Given the description of an element on the screen output the (x, y) to click on. 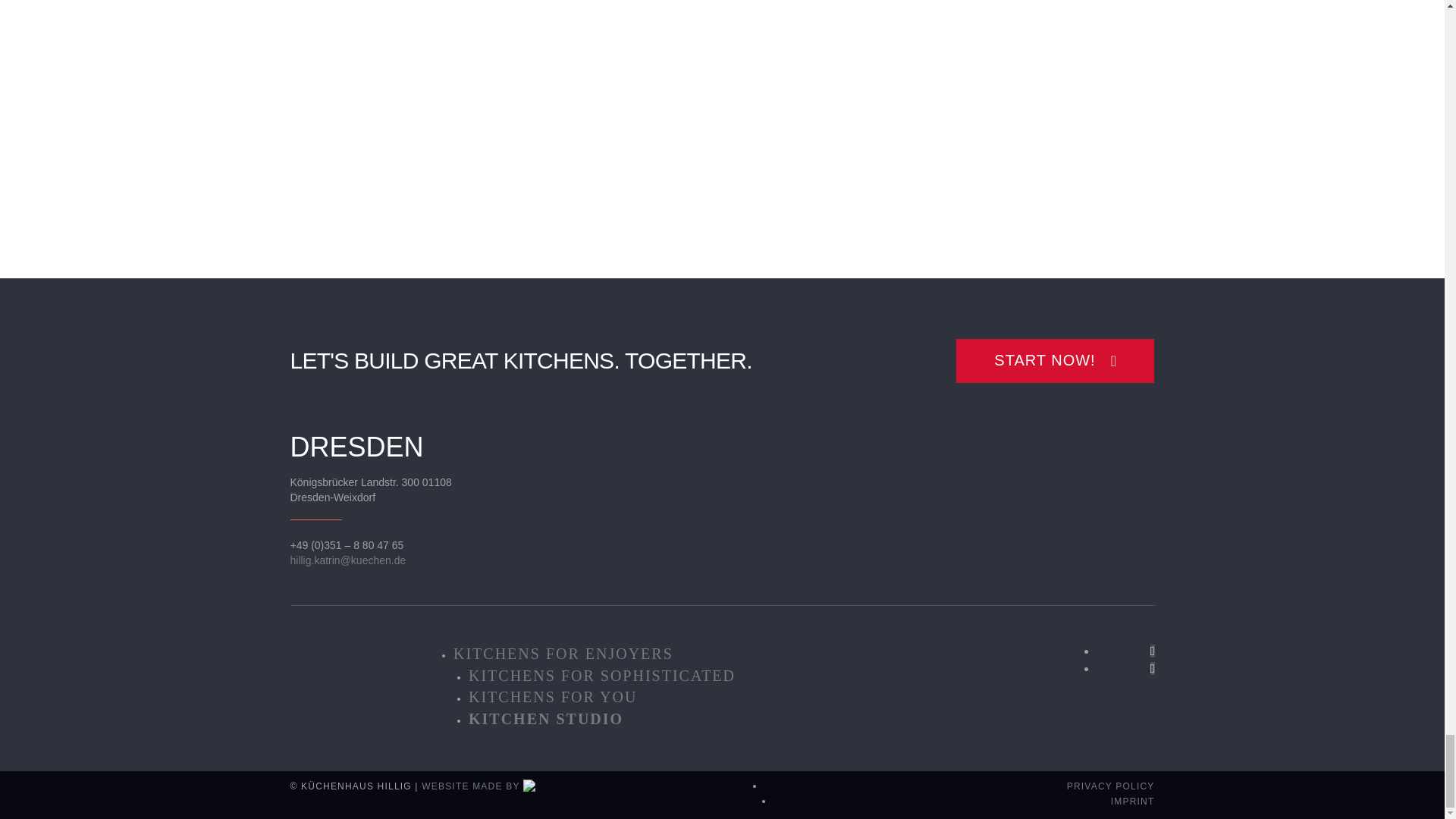
KITCHENS FOR SOPHISTICATED (601, 675)
KITCHEN STUDIO (545, 718)
IMPRINT (1132, 801)
WEBSITE MADE BY (478, 786)
KITCHENS FOR YOU (552, 696)
KITCHENS FOR ENJOYERS (562, 653)
START NOW! (1055, 361)
PRIVACY POLICY (1110, 786)
